Given the description of an element on the screen output the (x, y) to click on. 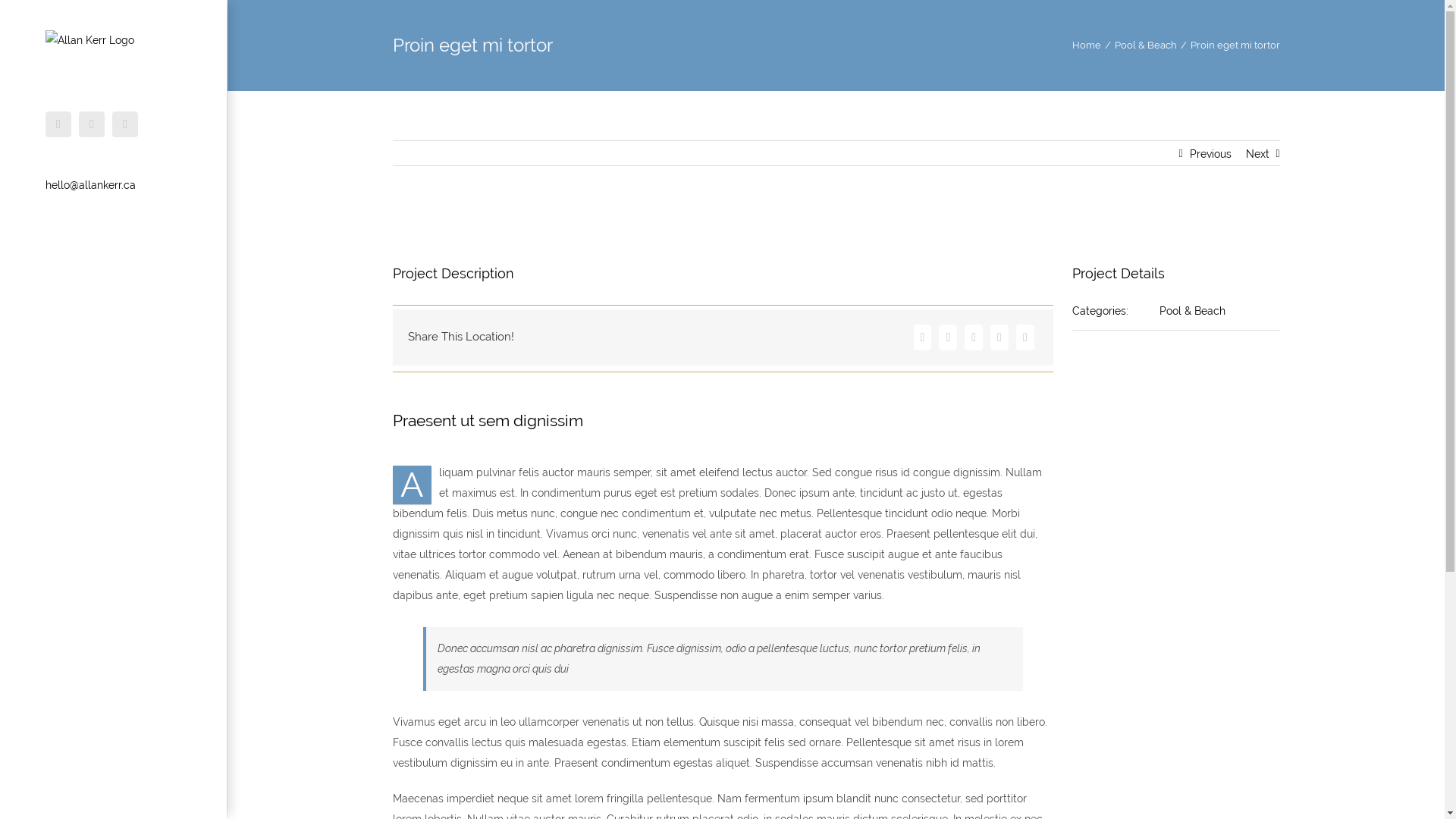
Pool & Beach Element type: text (1192, 310)
Mail Element type: hover (1025, 337)
Pool & Beach Element type: text (1145, 44)
hello@allankerr.ca Element type: text (90, 184)
Home Element type: text (1086, 44)
Pinterest Element type: hover (973, 337)
Next Element type: text (1256, 153)
Twitter Element type: hover (947, 337)
Email Element type: text (125, 124)
Twitter Element type: text (58, 124)
Facebook Element type: hover (922, 337)
LinkedIn Element type: text (91, 124)
Vk Element type: hover (999, 337)
Previous Element type: text (1209, 153)
